Given the description of an element on the screen output the (x, y) to click on. 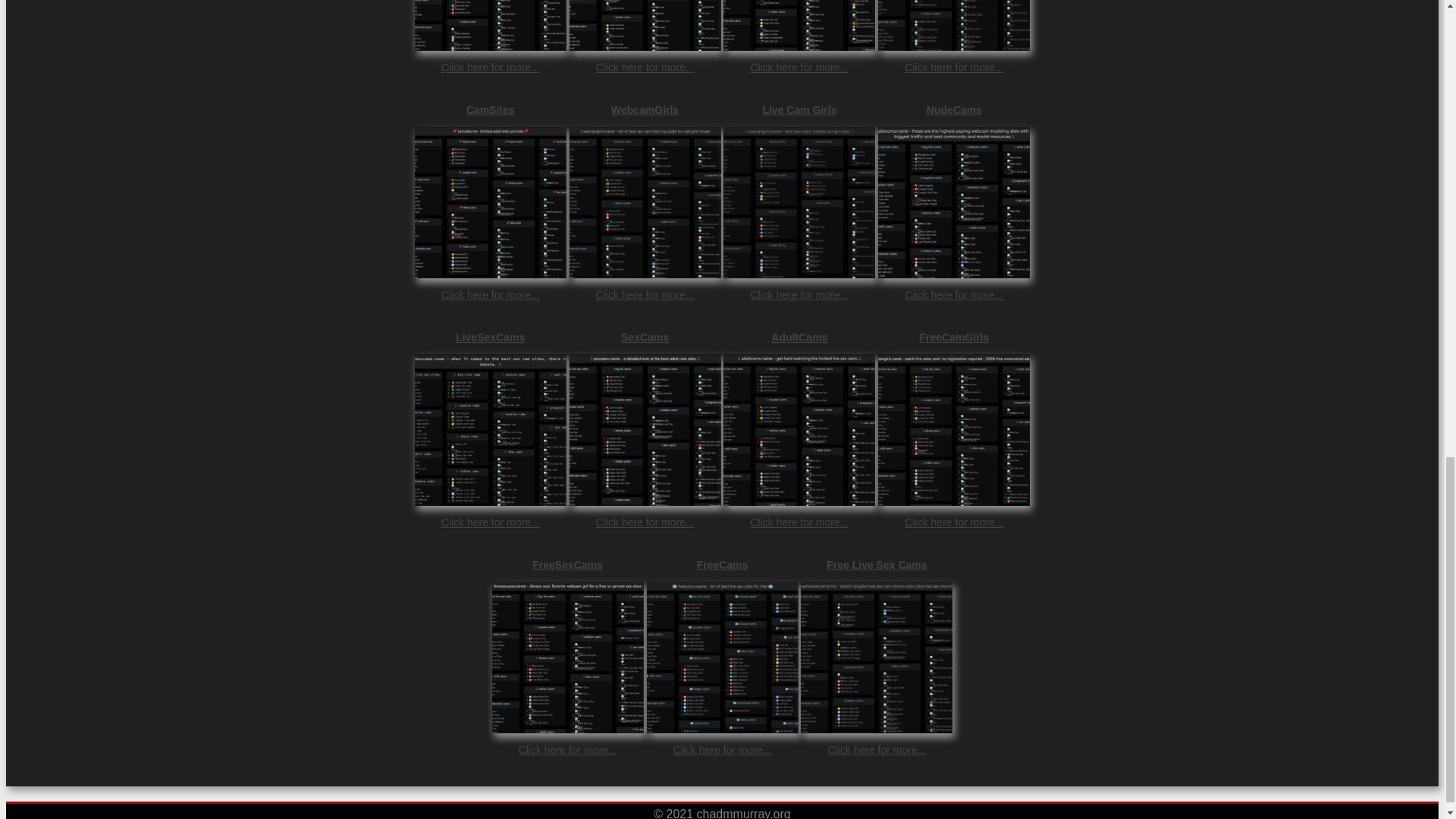
Click here for more... (798, 295)
Click here for more... (798, 522)
Click here for more... (953, 295)
Click here for more... (490, 522)
Click here for more... (490, 295)
Click here for more... (490, 67)
NudeCams (953, 110)
Click here for more... (644, 295)
FreeCamGirls (953, 337)
CamSites (490, 110)
WebcamGirls (644, 110)
Live Cam Girls (799, 110)
Click here for more... (644, 522)
SexCams (644, 337)
Click here for more... (644, 67)
